Given the description of an element on the screen output the (x, y) to click on. 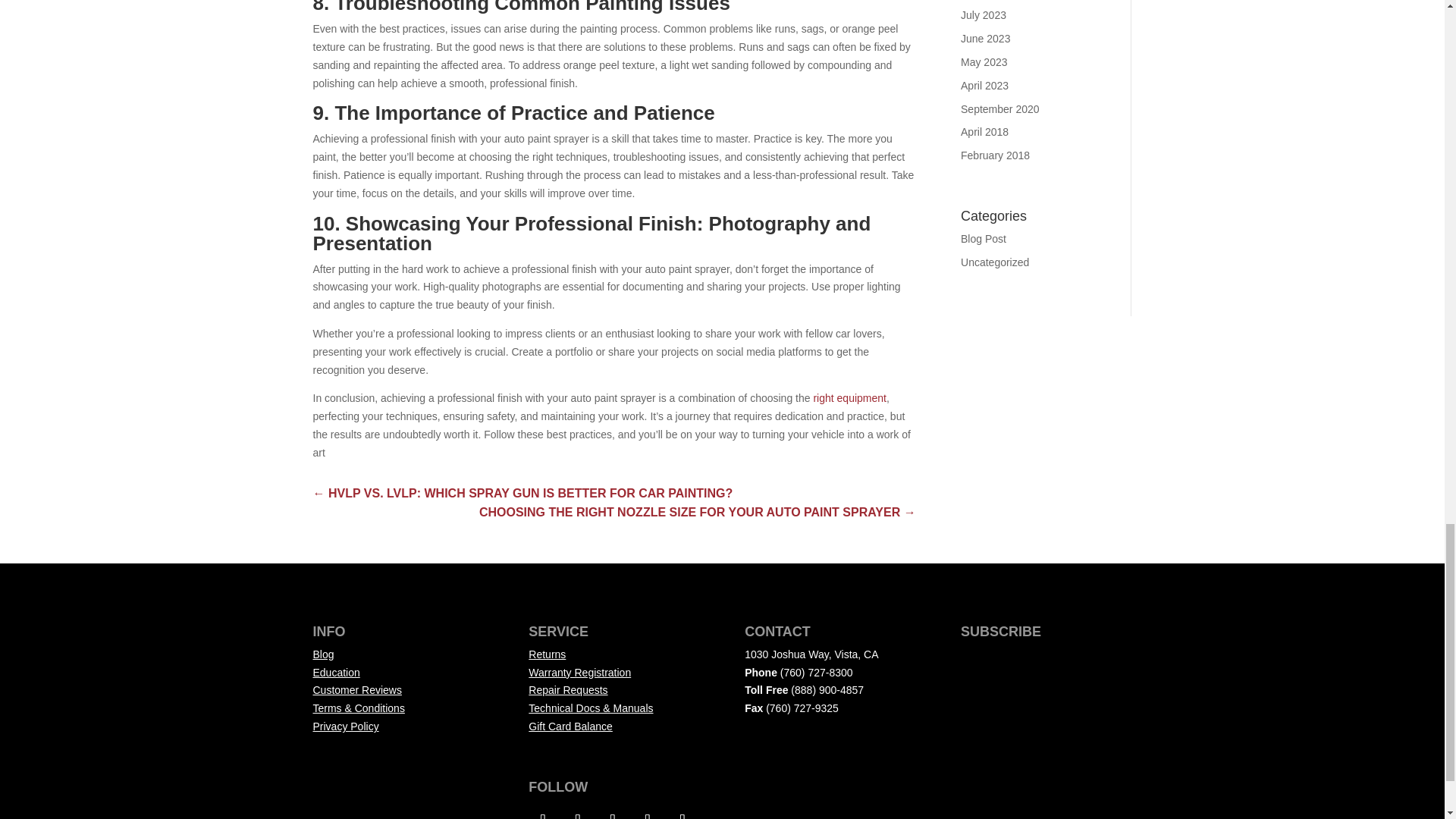
right equipment (849, 398)
Follow on Facebook (542, 812)
Follow on LinkedIn (647, 812)
Follow on Instagram (612, 812)
Follow on Youtube (682, 812)
Follow on X (577, 812)
